Given the description of an element on the screen output the (x, y) to click on. 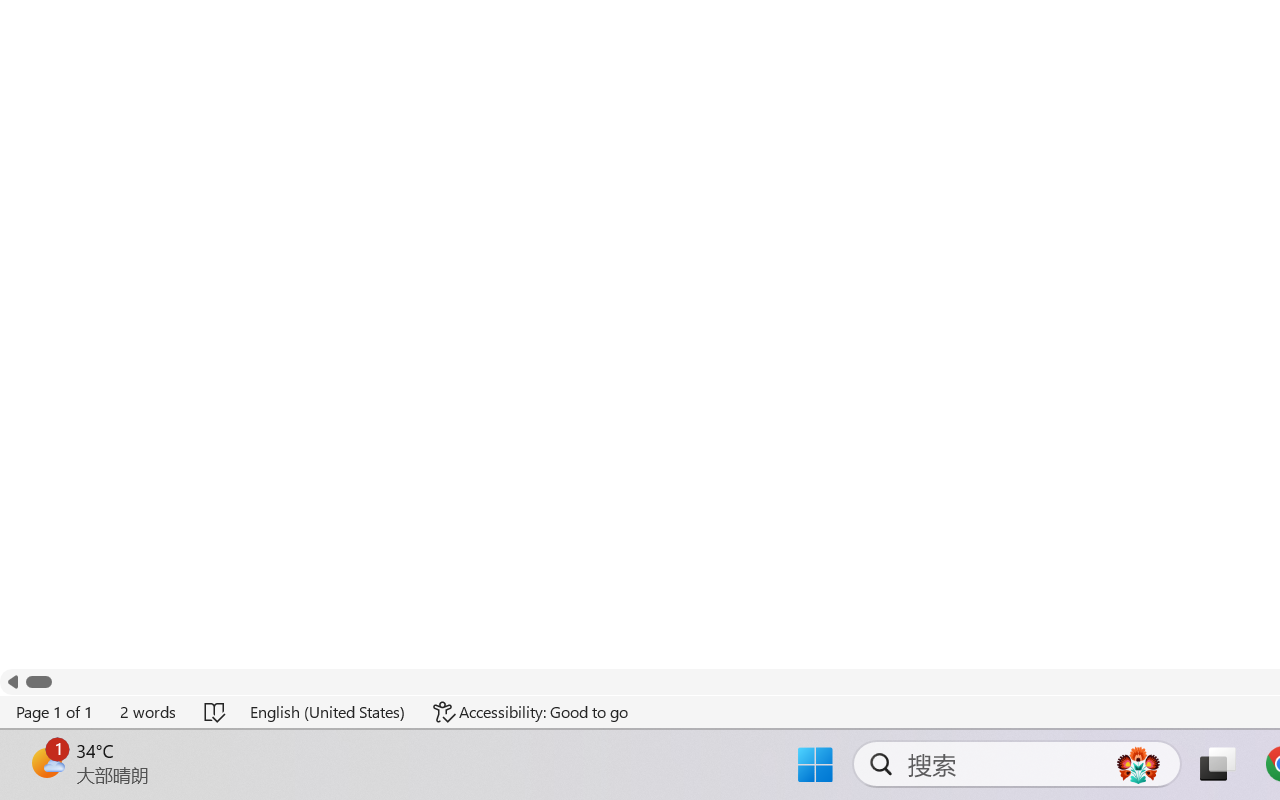
Accessibility Checker Accessibility: Good to go (397, 743)
